Given the description of an element on the screen output the (x, y) to click on. 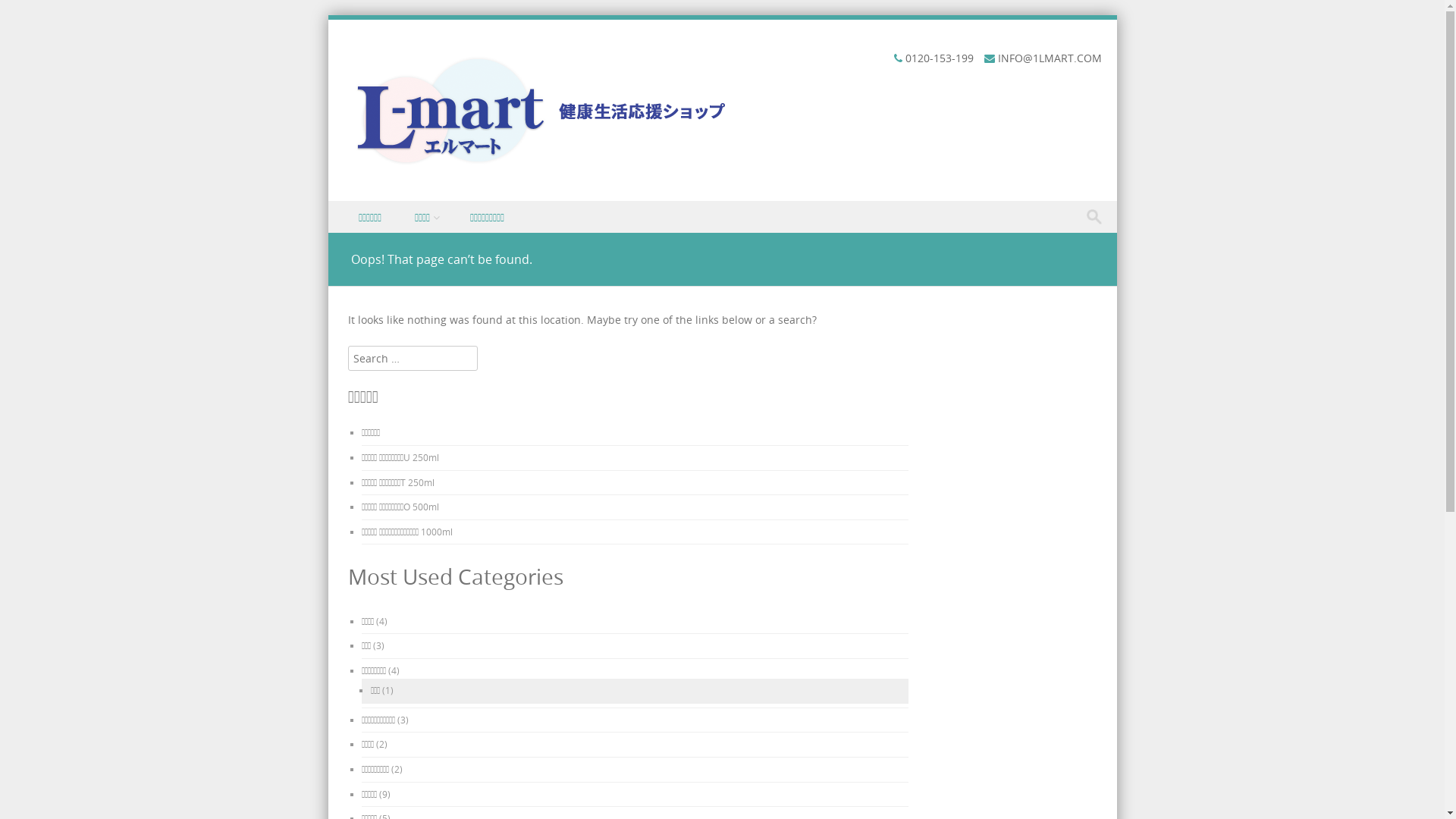
Menu Element type: text (355, 233)
Skip to content Element type: text (365, 210)
Search for: Element type: hover (1097, 216)
Search Element type: text (26, 14)
